Given the description of an element on the screen output the (x, y) to click on. 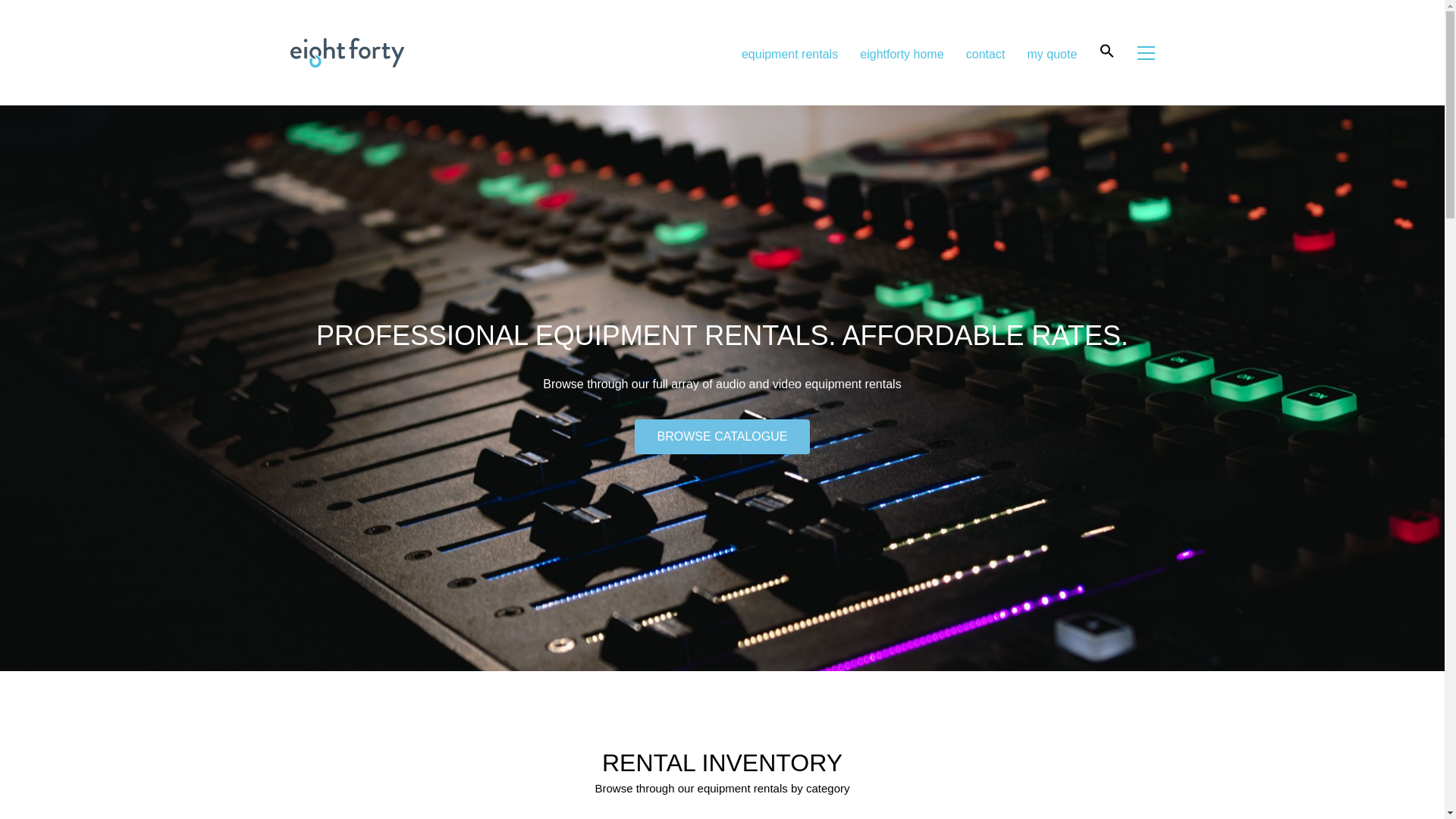
BROWSE CATALOGUE (722, 436)
contact (986, 53)
equipment rentals (789, 53)
my quote (1052, 53)
eightforty home (901, 53)
